Given the description of an element on the screen output the (x, y) to click on. 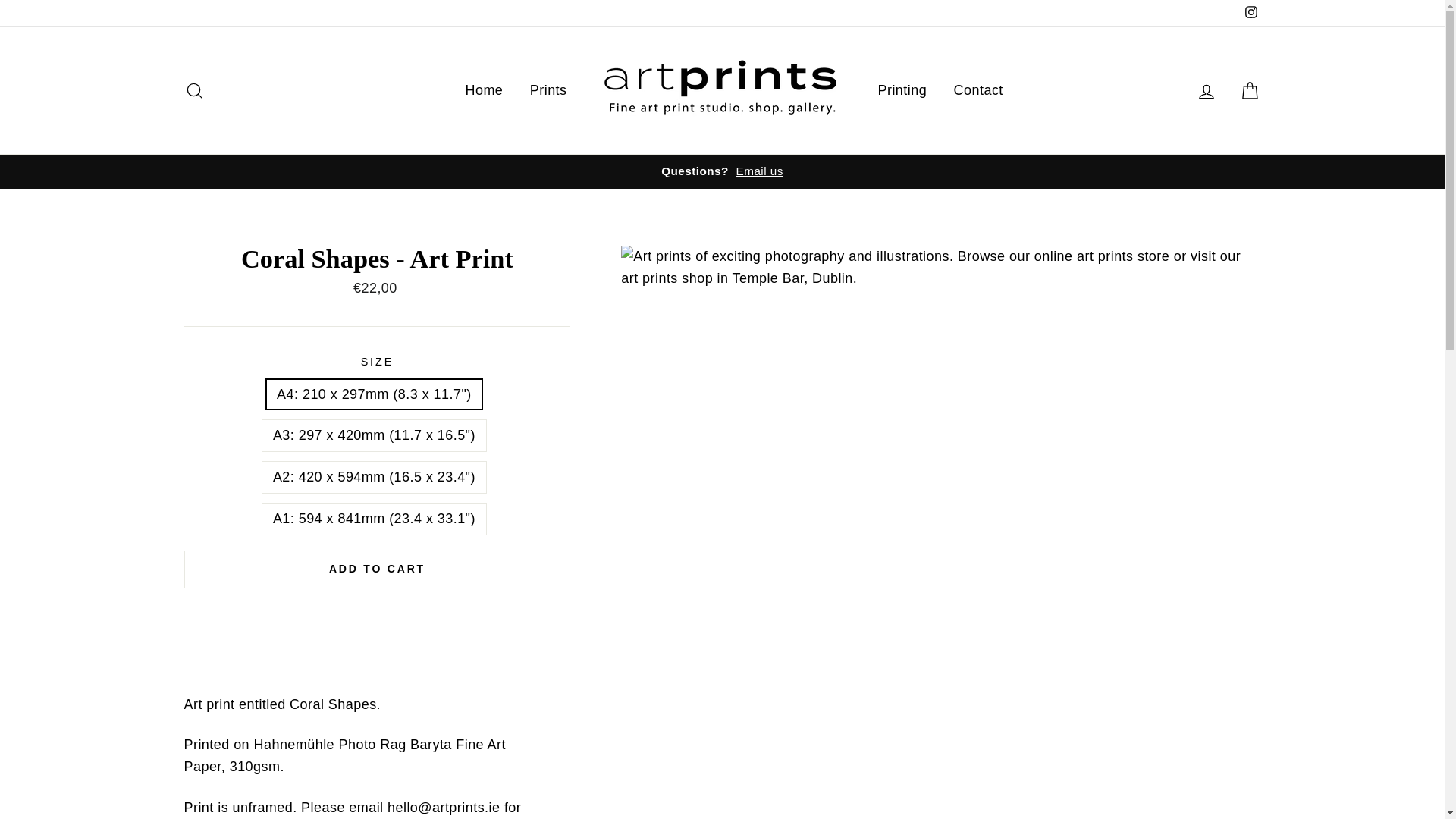
Home (482, 90)
Prints (548, 90)
